Given the description of an element on the screen output the (x, y) to click on. 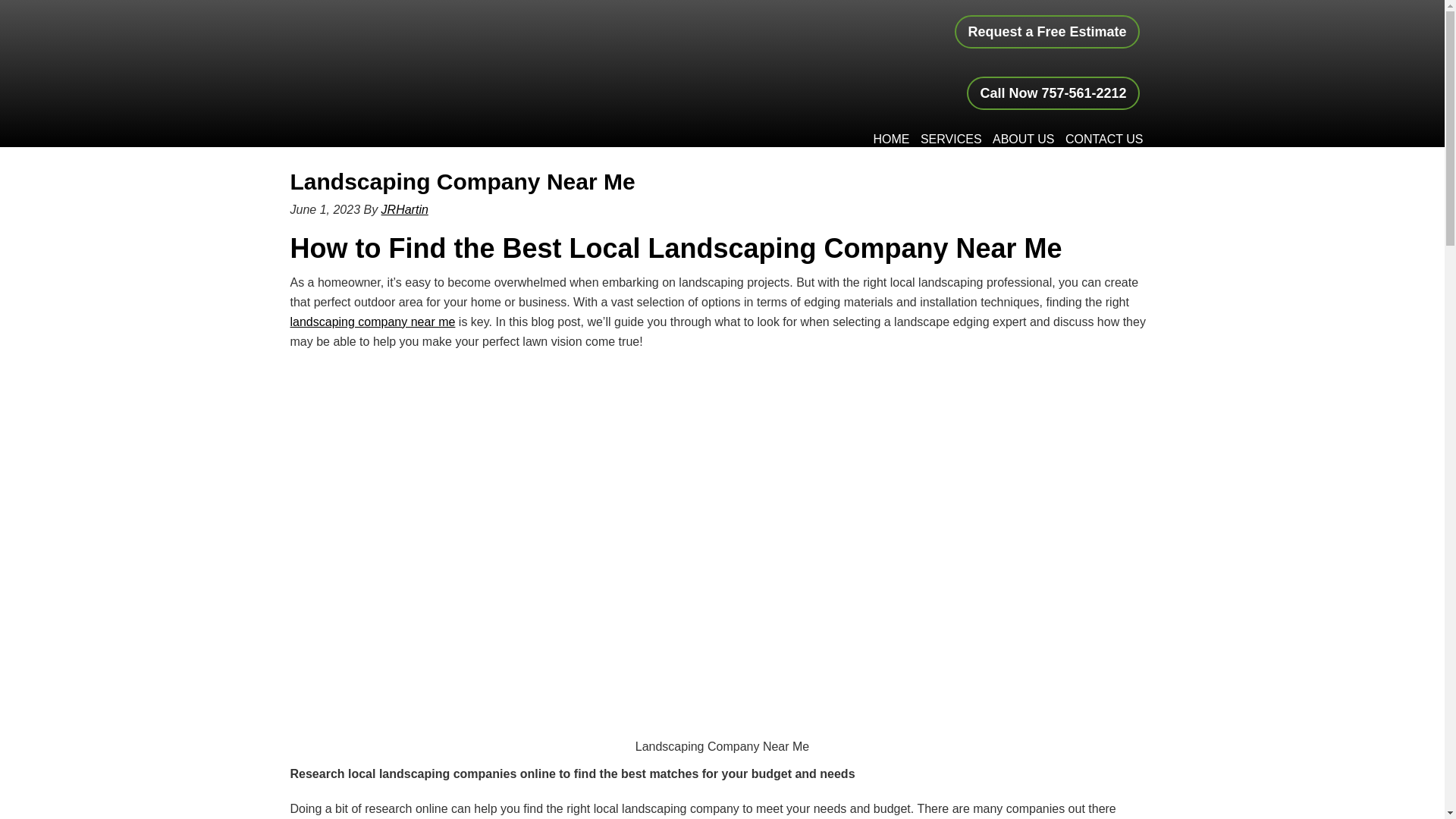
HOME (890, 139)
JRHartin (404, 209)
ABOUT US (1023, 139)
Request a Free Estimate (1046, 31)
Landscaping Company Near Me (461, 181)
The Vine Landscaping (452, 55)
CONTACT US (1104, 139)
Call Now 757-561-2212 (1052, 92)
SERVICES (951, 139)
